Given the description of an element on the screen output the (x, y) to click on. 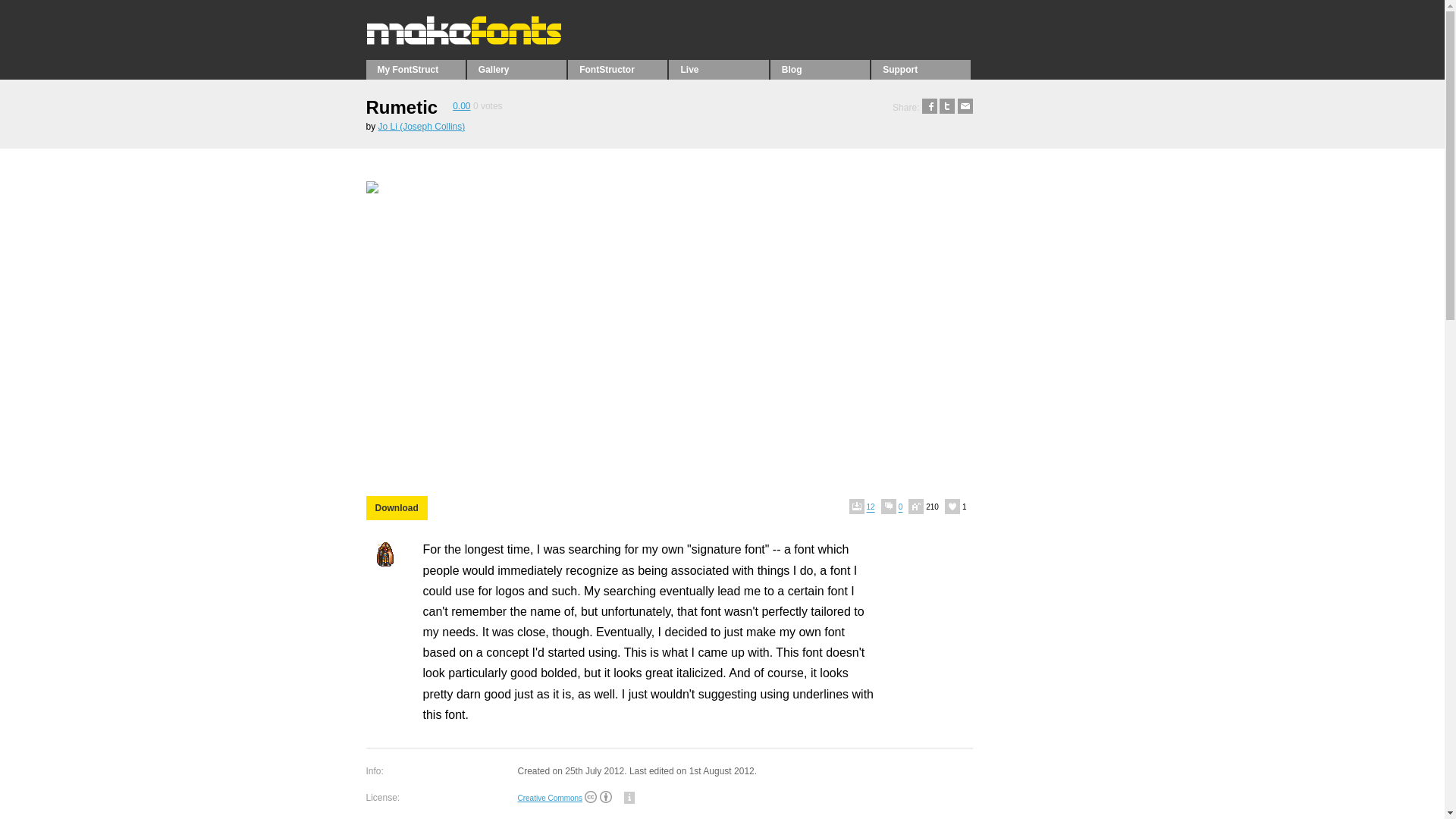
Share on Facebook (929, 107)
Creative Commons (549, 797)
Support (920, 69)
My FontStruct (414, 69)
FontStruct (467, 41)
Creative Commons License (589, 797)
Download for desktop use (395, 508)
Share on Twitter (947, 107)
